Given the description of an element on the screen output the (x, y) to click on. 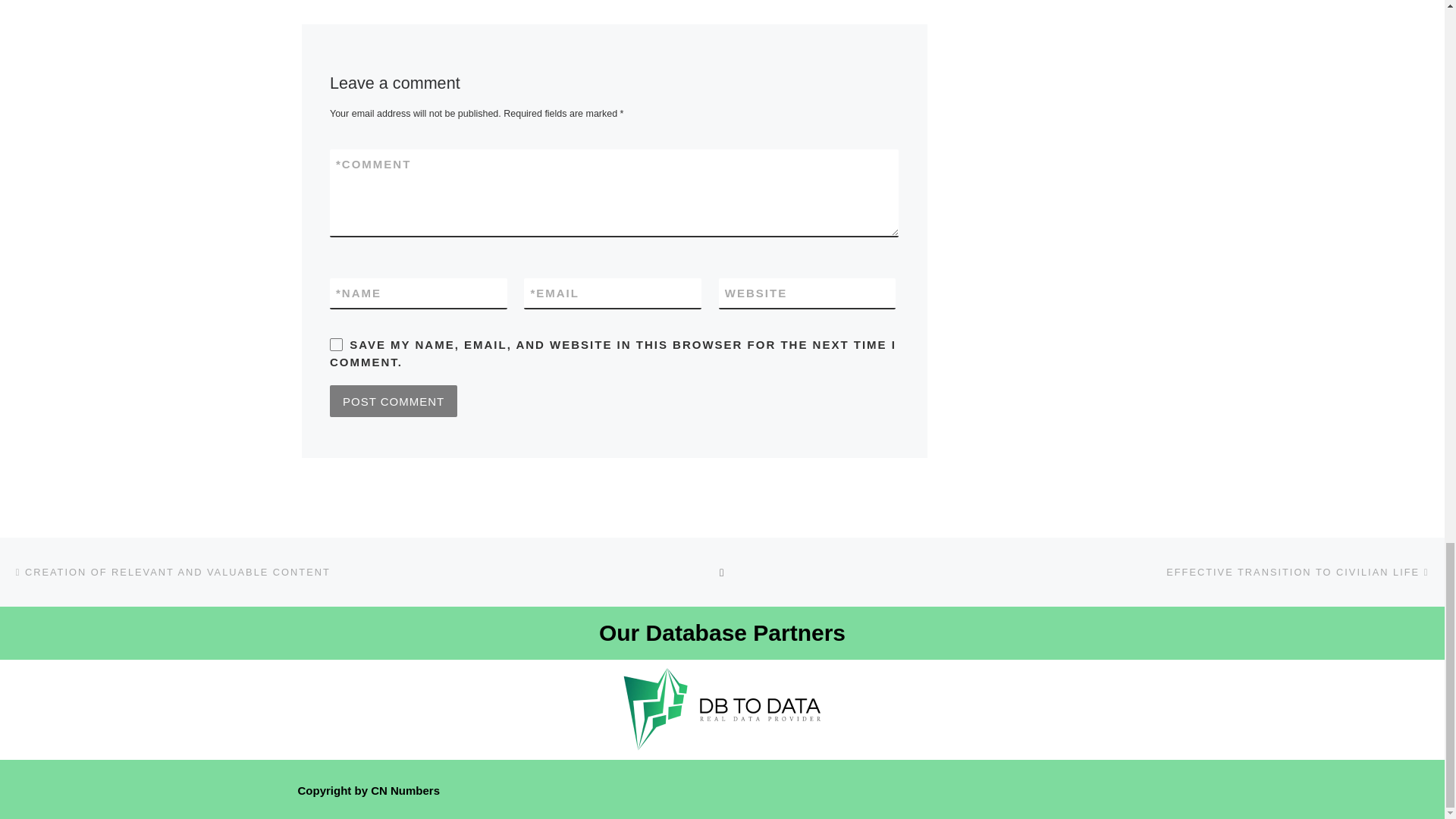
yes (336, 344)
Post Comment (393, 400)
